Given the description of an element on the screen output the (x, y) to click on. 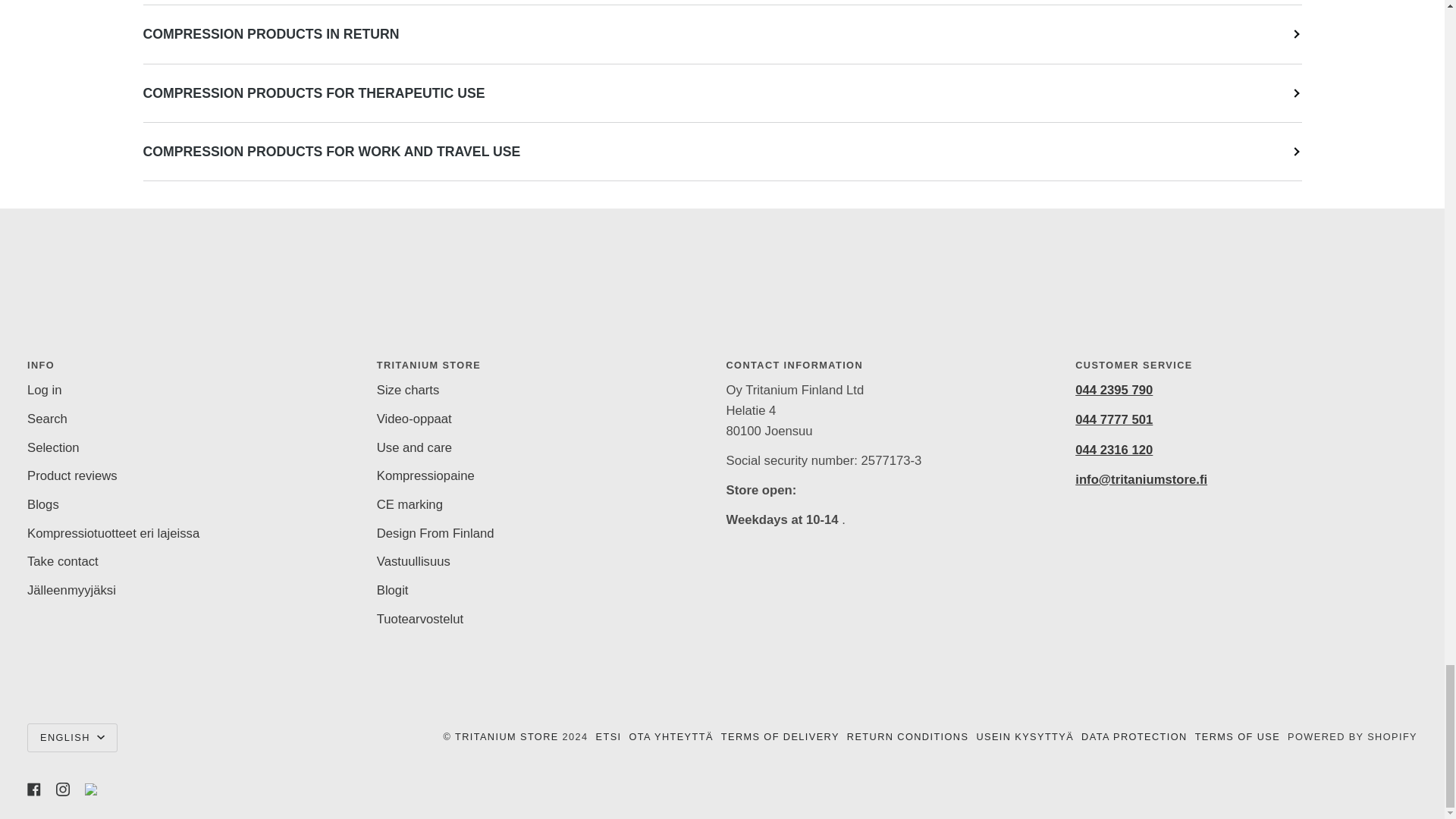
Facebook (33, 789)
Instagram (62, 789)
